Given the description of an element on the screen output the (x, y) to click on. 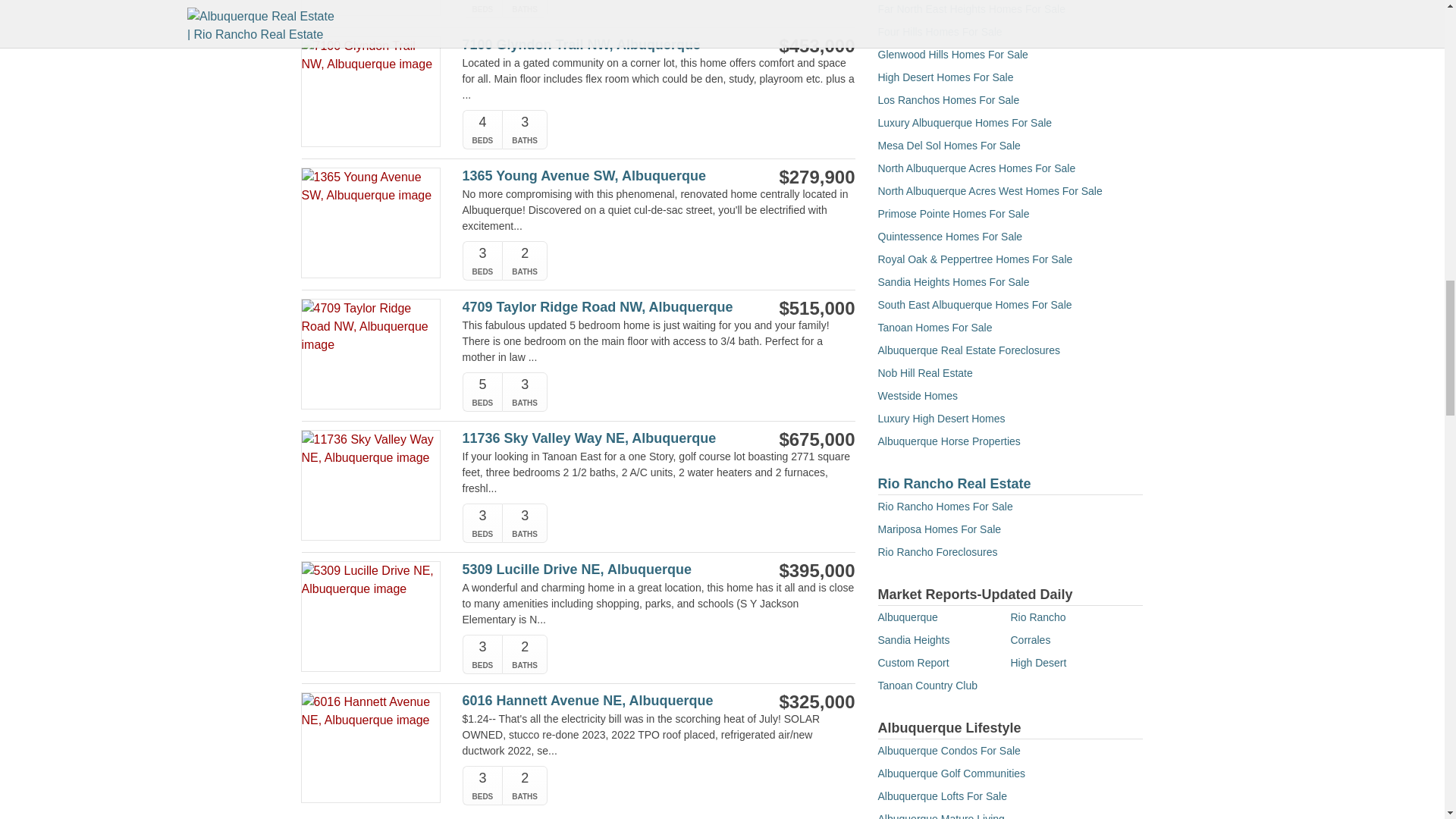
4709 Taylor Ridge Road NW, Albuquerque (600, 307)
7100 Glyndon Trail NW, Albuquerque (600, 44)
1365 Young Avenue SW, Albuquerque (600, 176)
